Given the description of an element on the screen output the (x, y) to click on. 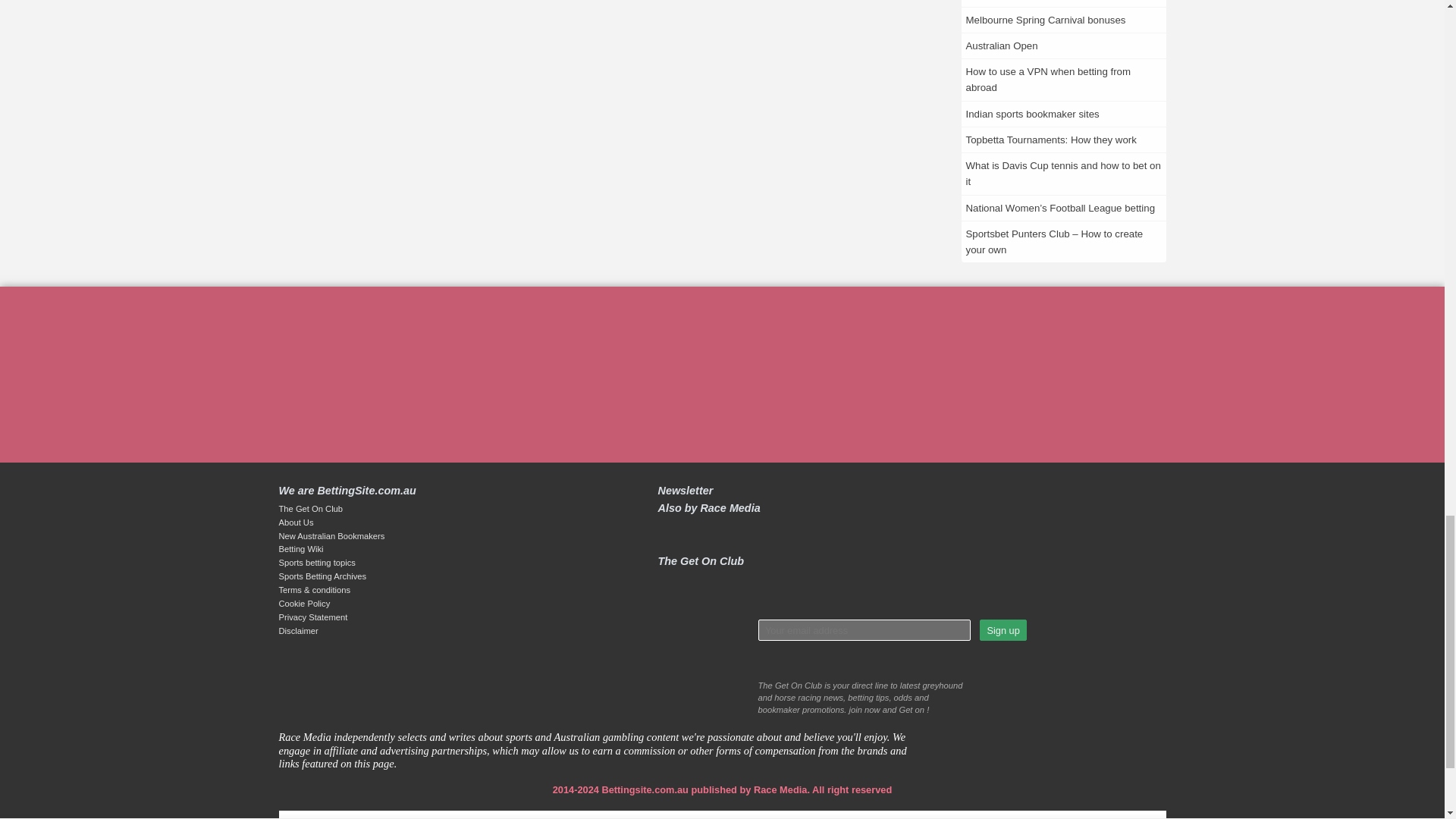
Sign up (1002, 629)
